Given the description of an element on the screen output the (x, y) to click on. 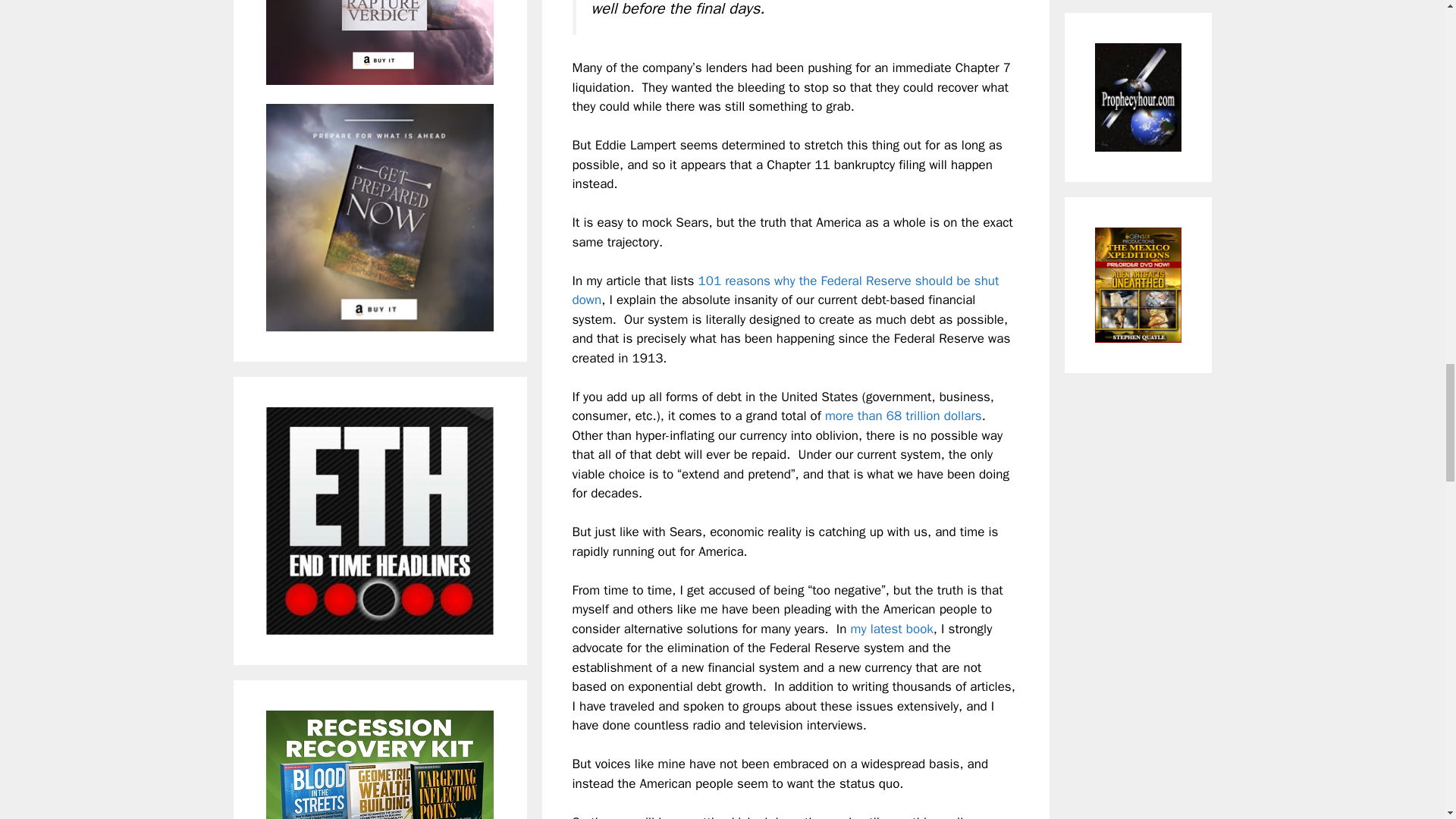
more than 68 trillion dollars (903, 415)
my latest book (891, 628)
my latest book (891, 628)
101 reasons why the Federal Reserve should be shut down (785, 290)
101 reasons why the Federal Reserve should be shut down (785, 290)
more than 68 trillion dollars (903, 415)
